Given the description of an element on the screen output the (x, y) to click on. 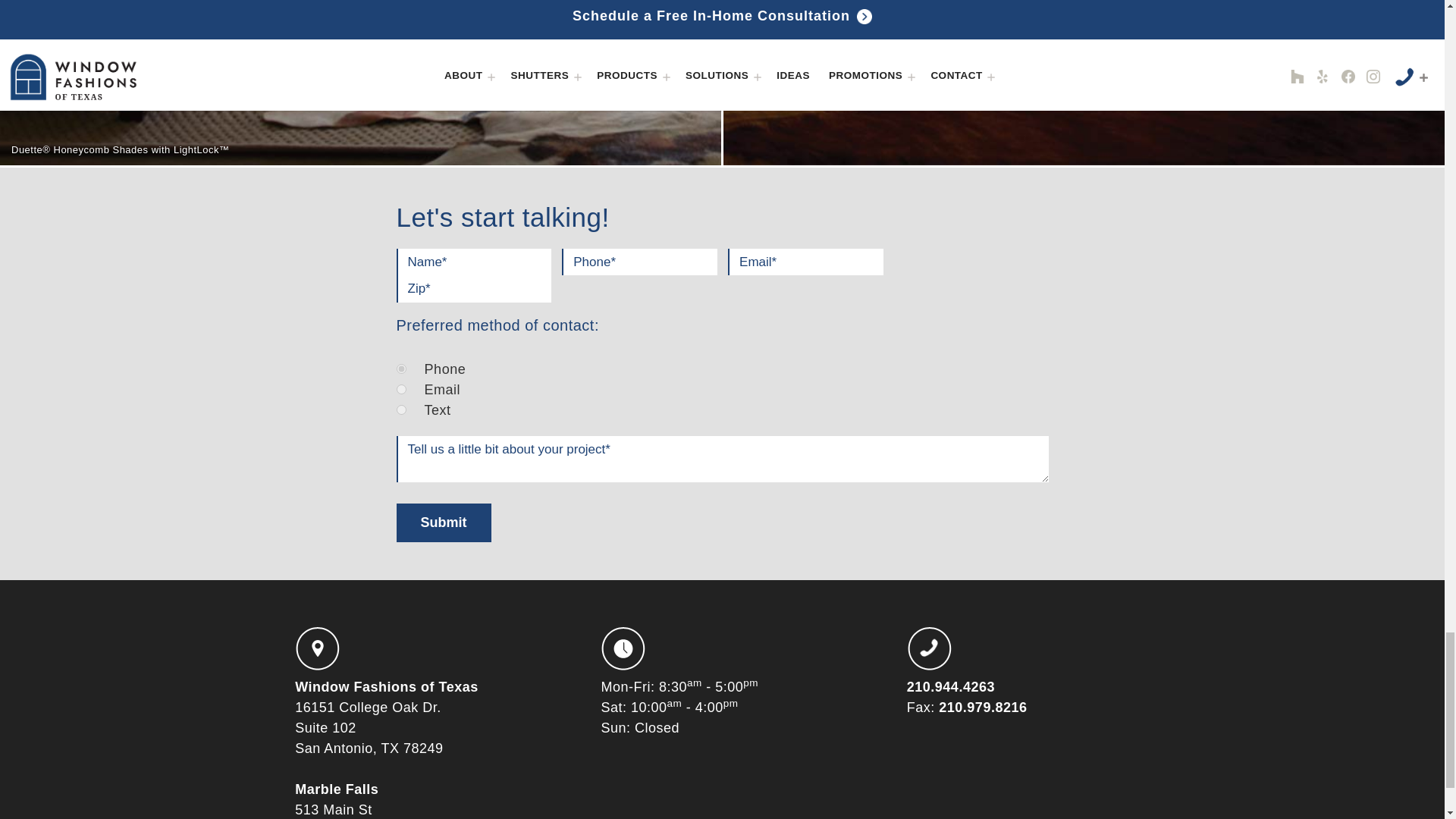
Email (401, 388)
Text (401, 409)
Submit (443, 522)
Phone (401, 368)
